Given the description of an element on the screen output the (x, y) to click on. 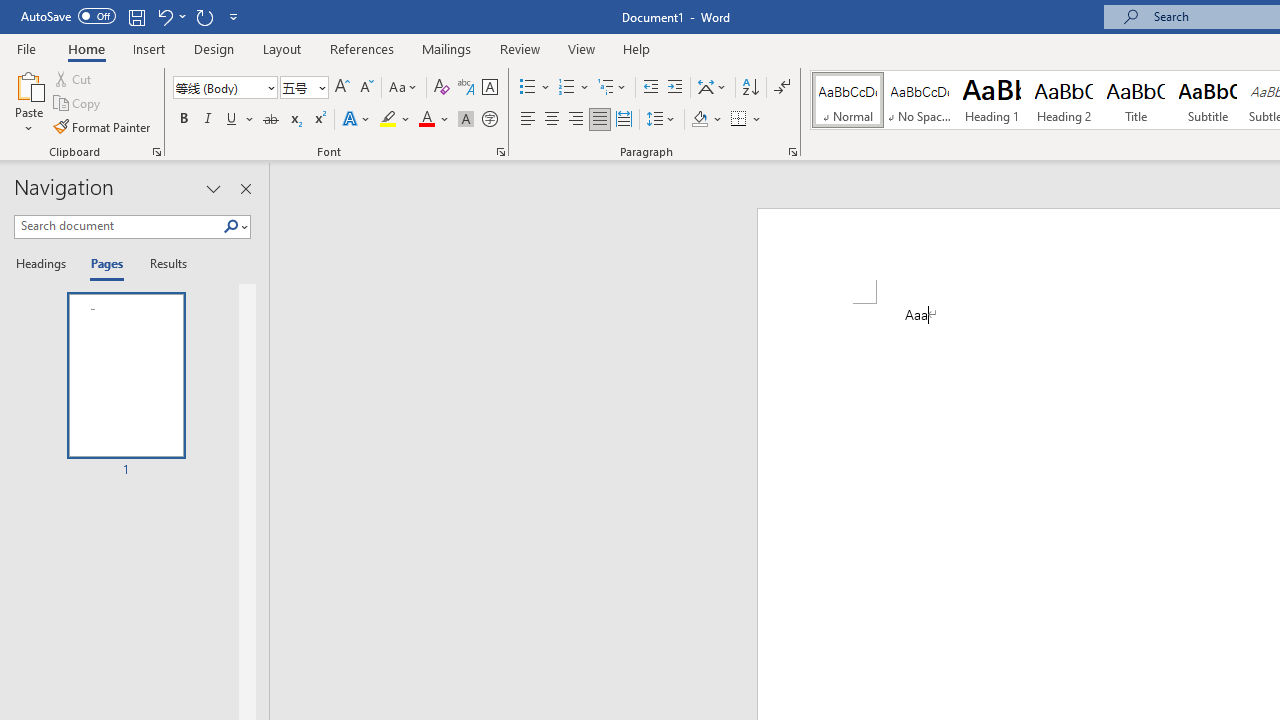
Text Effects and Typography (357, 119)
Strikethrough (270, 119)
Multilevel List (613, 87)
Text Highlight Color Yellow (388, 119)
Repeat Increase Indent (204, 15)
Align Left (527, 119)
References (362, 48)
Shading (706, 119)
Text Highlight Color (395, 119)
Format Painter (103, 126)
